Given the description of an element on the screen output the (x, y) to click on. 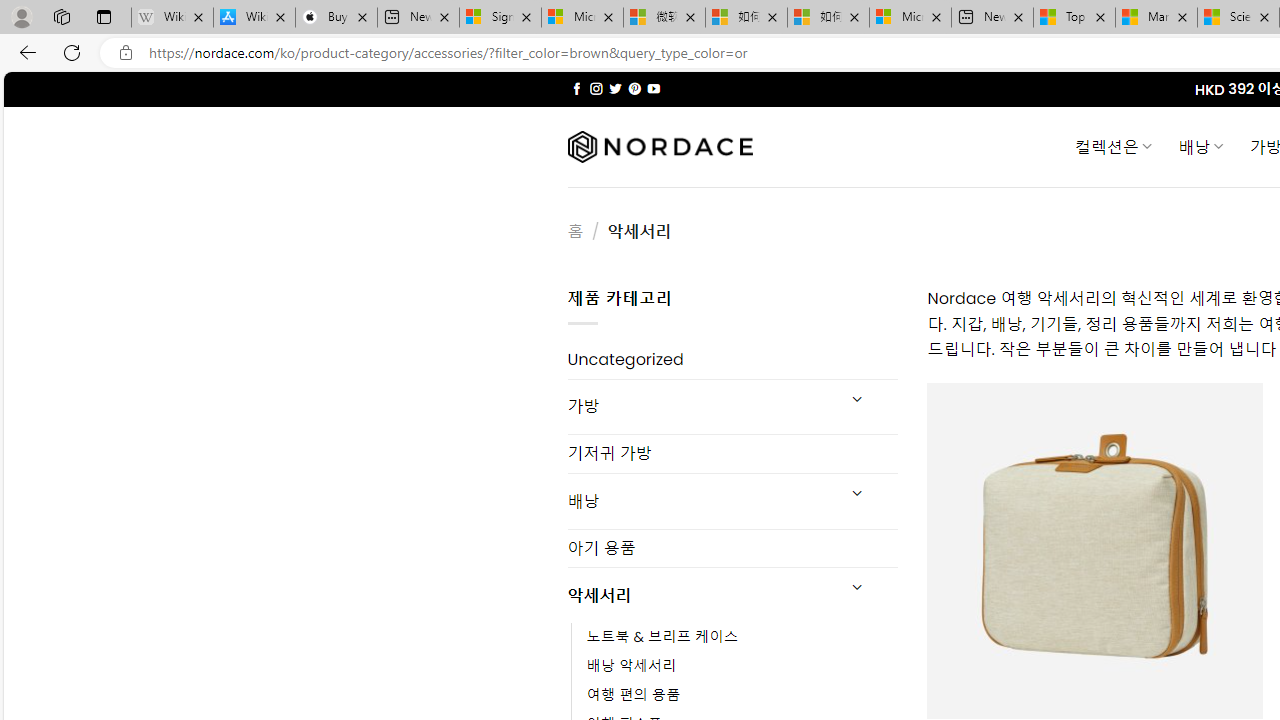
Follow on Twitter (615, 88)
Uncategorized (732, 359)
Microsoft Services Agreement (582, 17)
Microsoft account | Account Checkup (910, 17)
